Given the description of an element on the screen output the (x, y) to click on. 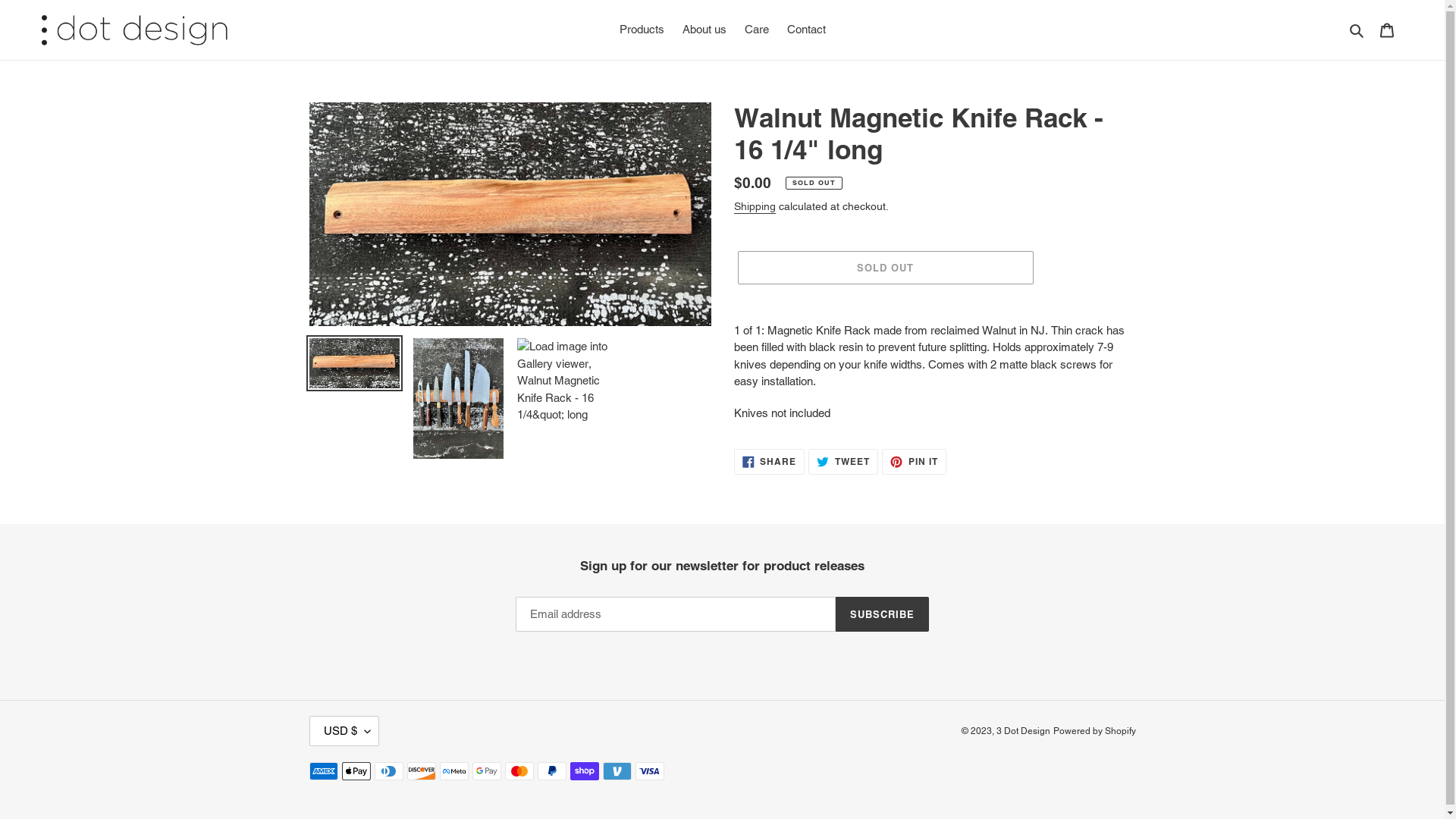
Powered by Shopify Element type: text (1093, 730)
TWEET
TWEET ON TWITTER Element type: text (843, 461)
Cart Element type: text (1386, 29)
Contact Element type: text (806, 29)
SUBSCRIBE Element type: text (881, 613)
Products Element type: text (641, 29)
About us Element type: text (704, 29)
Care Element type: text (756, 29)
Search Element type: text (1357, 29)
3 Dot Design Element type: text (1023, 730)
USD $ Element type: text (344, 730)
Shipping Element type: text (754, 206)
PIN IT
PIN ON PINTEREST Element type: text (913, 461)
SOLD OUT Element type: text (884, 267)
SHARE
SHARE ON FACEBOOK Element type: text (769, 461)
